Given the description of an element on the screen output the (x, y) to click on. 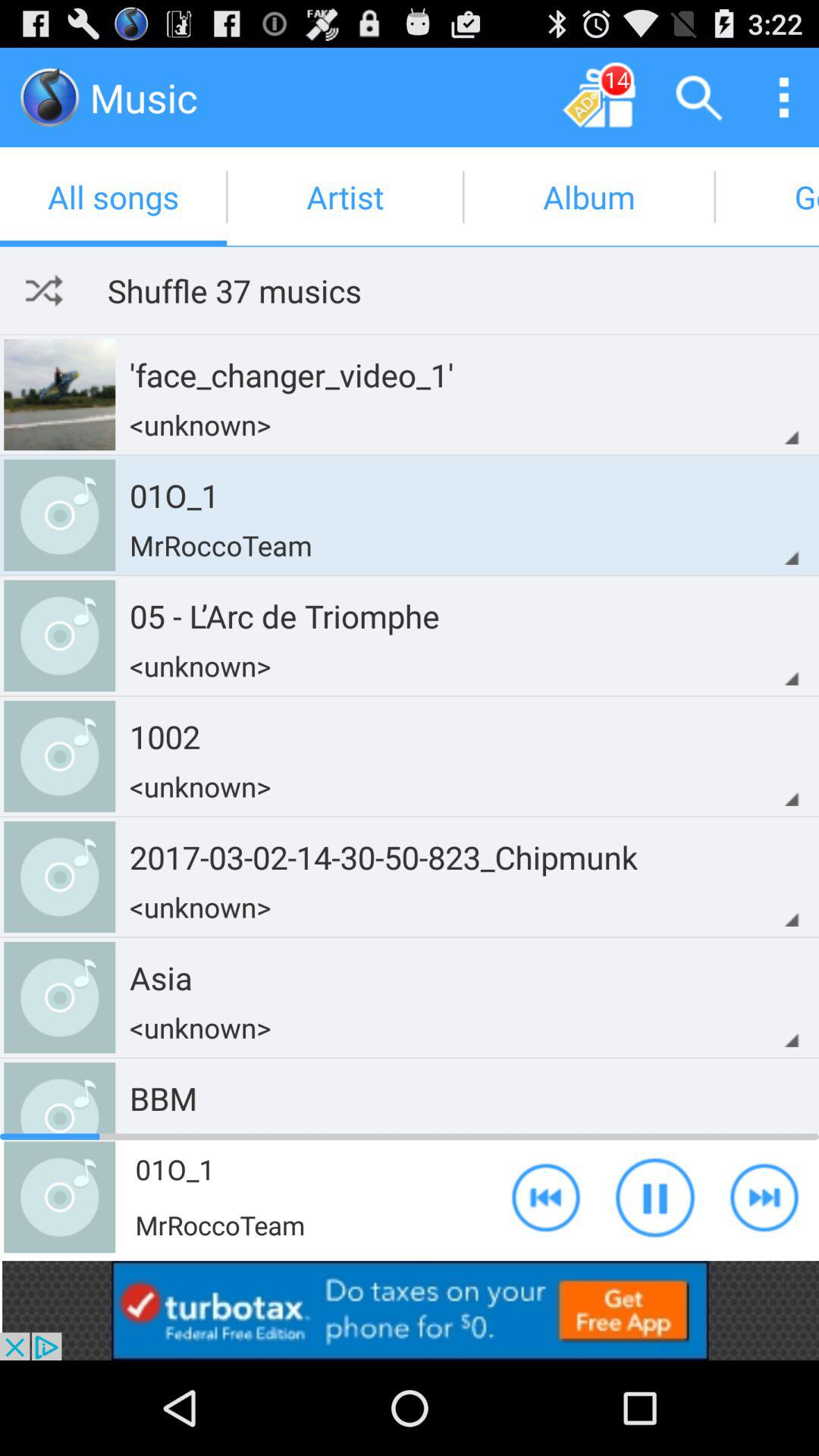
search (699, 97)
